Given the description of an element on the screen output the (x, y) to click on. 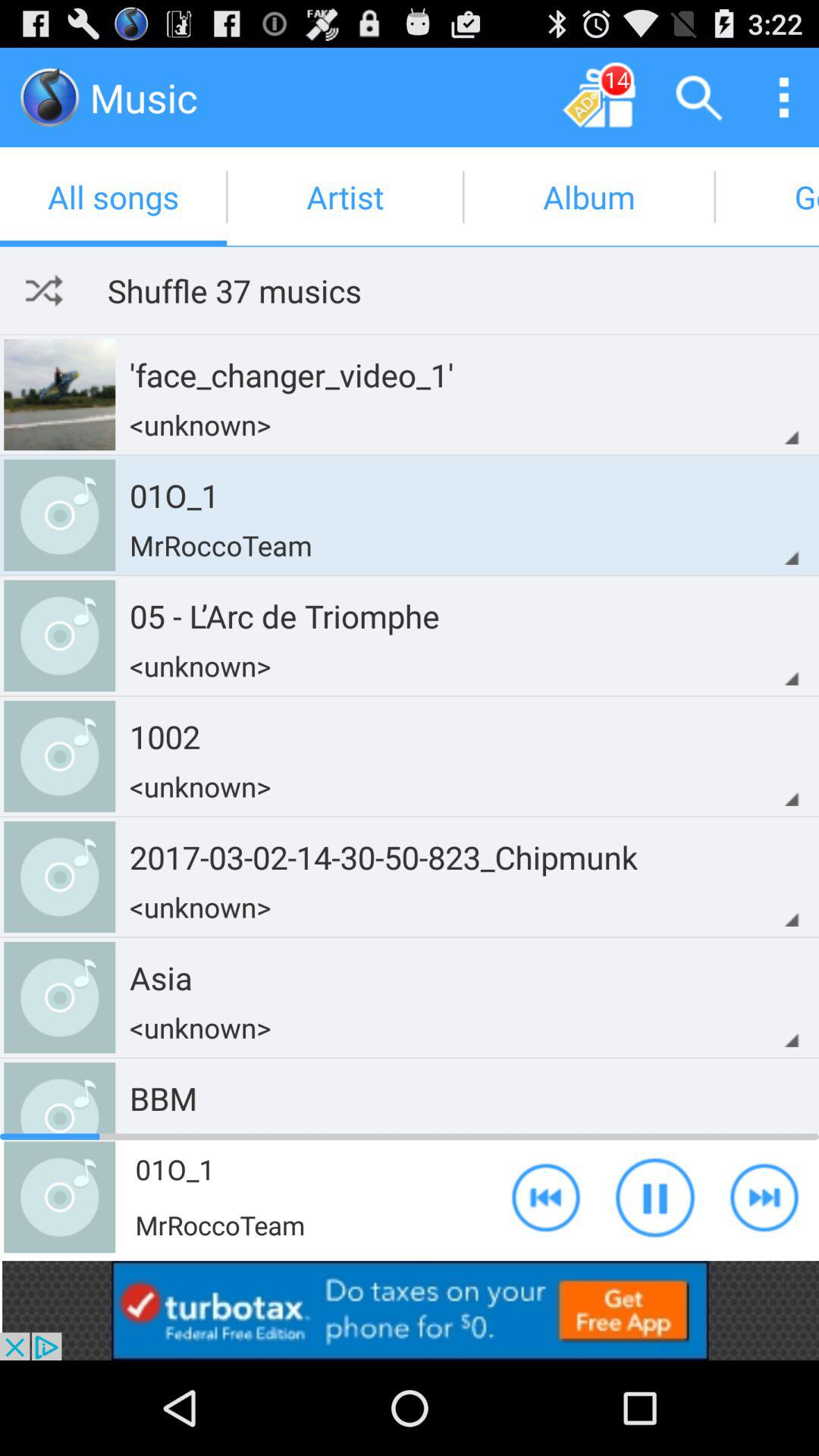
search (699, 97)
